Given the description of an element on the screen output the (x, y) to click on. 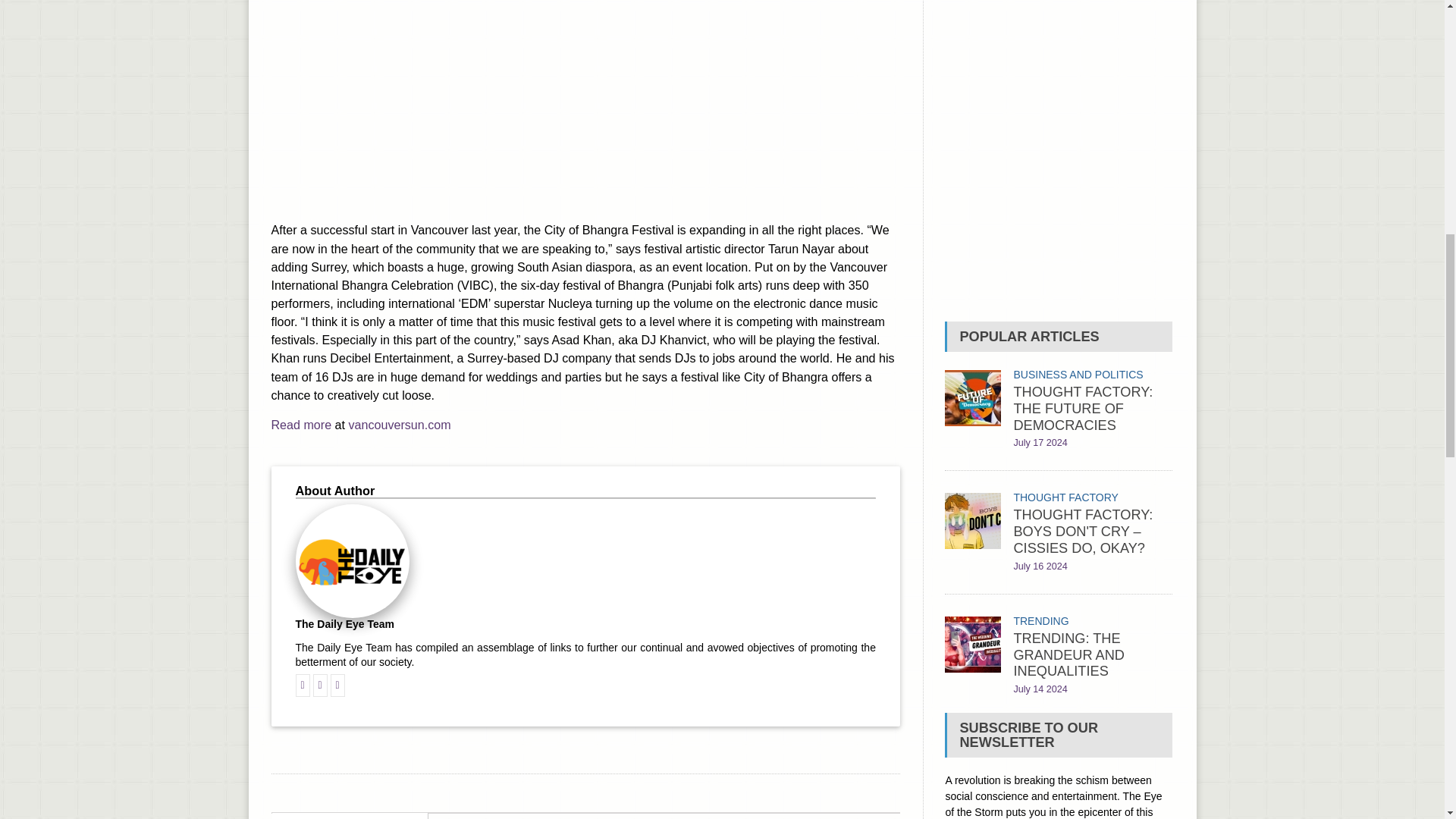
Advertisement (584, 104)
Advertisement (1058, 153)
